Given the description of an element on the screen output the (x, y) to click on. 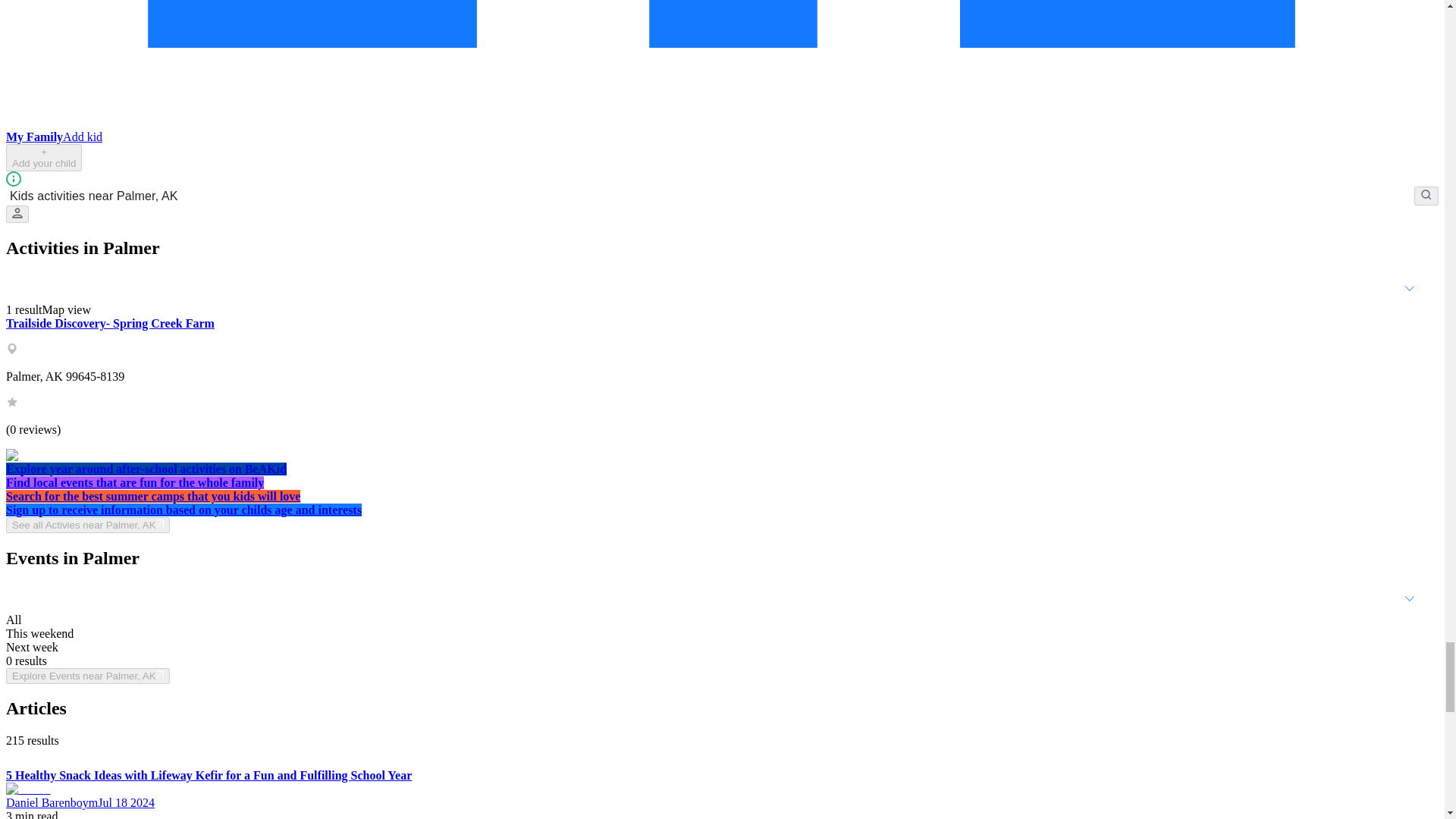
Explore year around after-school activities on BeAKid (145, 468)
Open (1409, 288)
See all Activies near Palmer, AK (87, 524)
Trailside Discovery- Spring Creek Farm (109, 323)
Open (1409, 597)
Find local events that are fun for the whole family (134, 481)
Explore Events near Palmer, AK (87, 675)
Search for the best summer camps that you kids will love (152, 495)
